Given the description of an element on the screen output the (x, y) to click on. 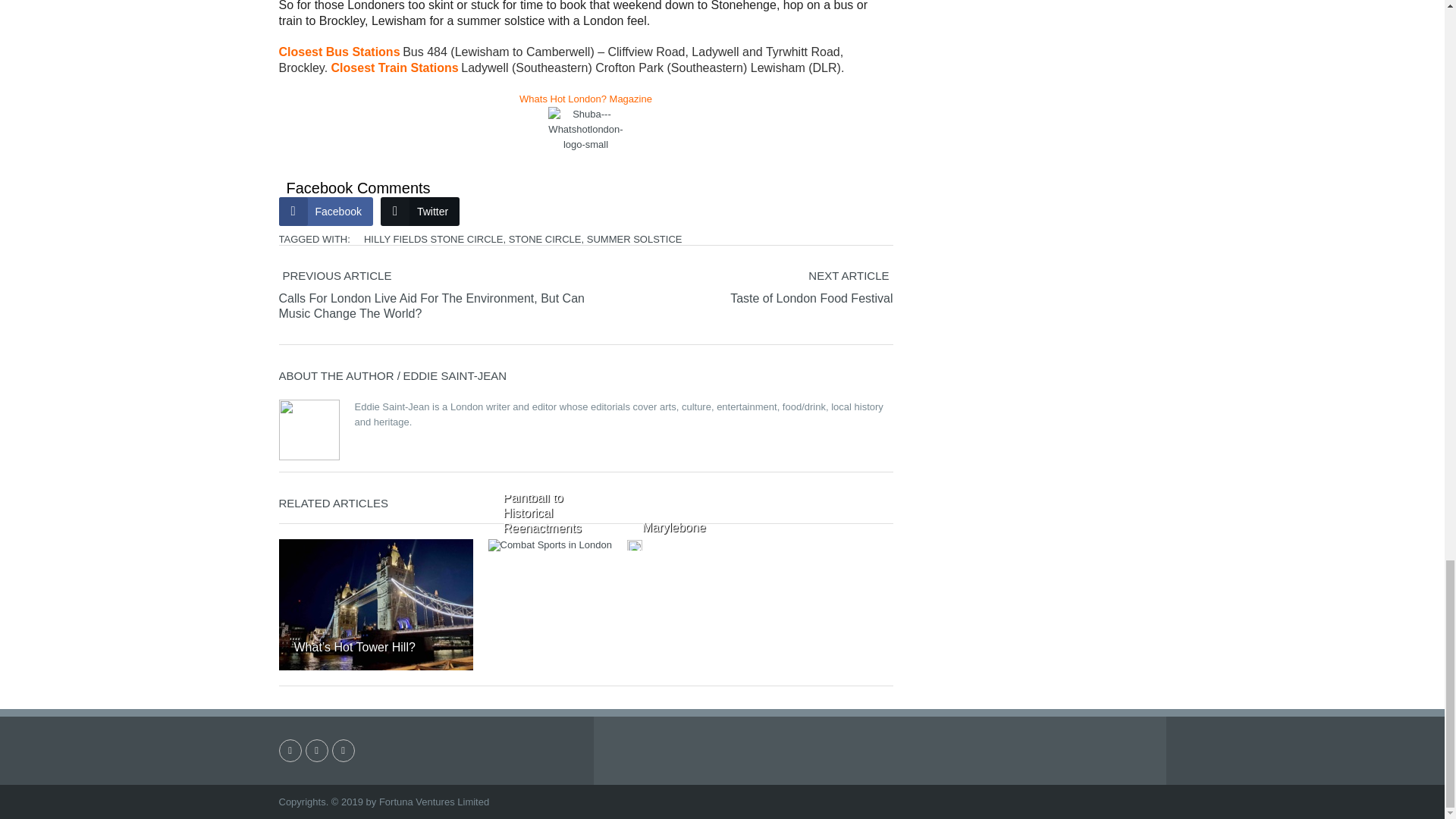
Twitter (420, 210)
Facebook (325, 210)
Whats Hot London? Magazine (585, 98)
HILLY FIELDS STONE CIRCLE (433, 238)
Posts by Eddie Saint-Jean (454, 375)
